Given the description of an element on the screen output the (x, y) to click on. 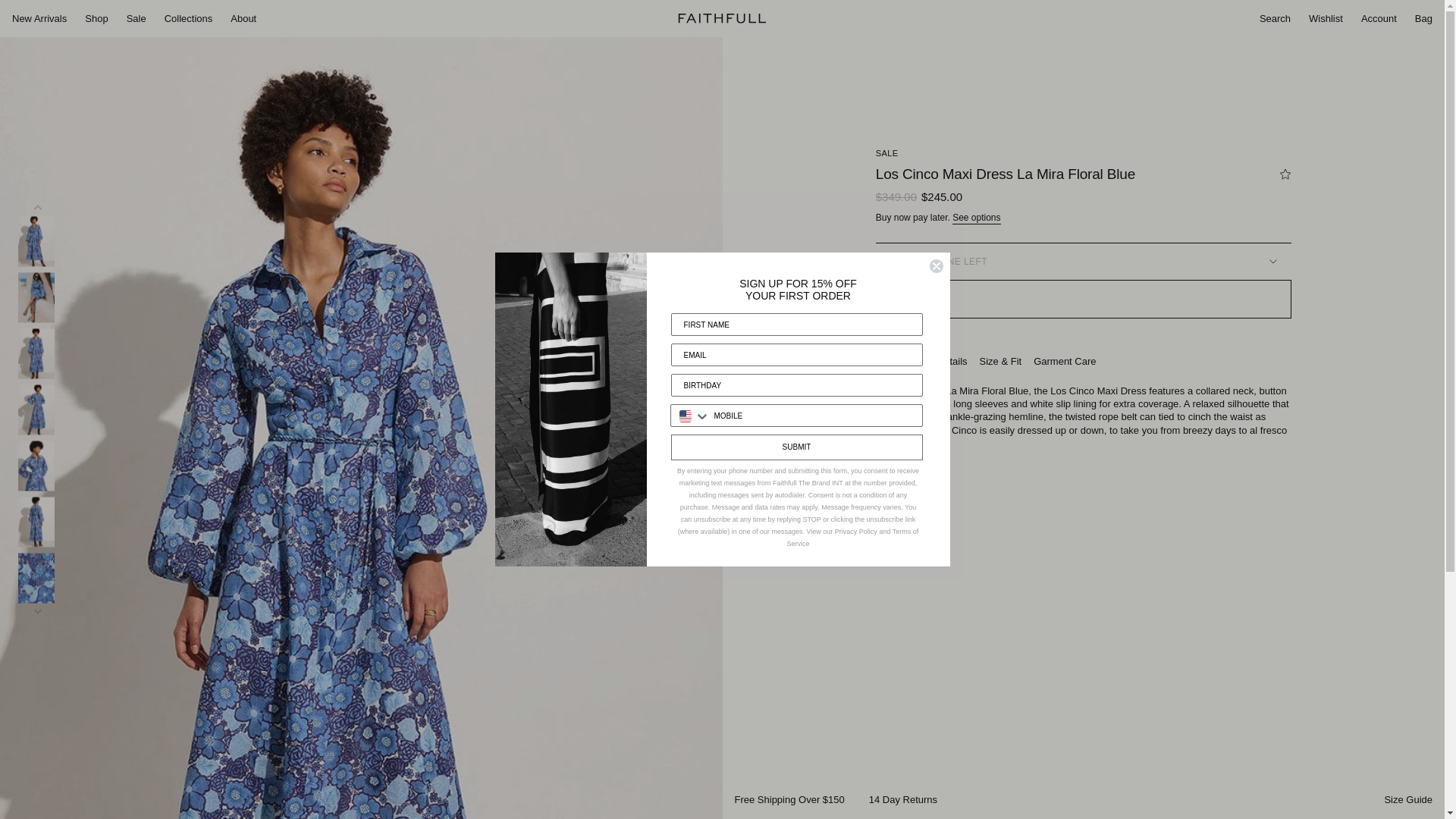
Shop (95, 19)
United States (685, 416)
New Arrivals (38, 19)
Close dialog 1 (935, 265)
